Given the description of an element on the screen output the (x, y) to click on. 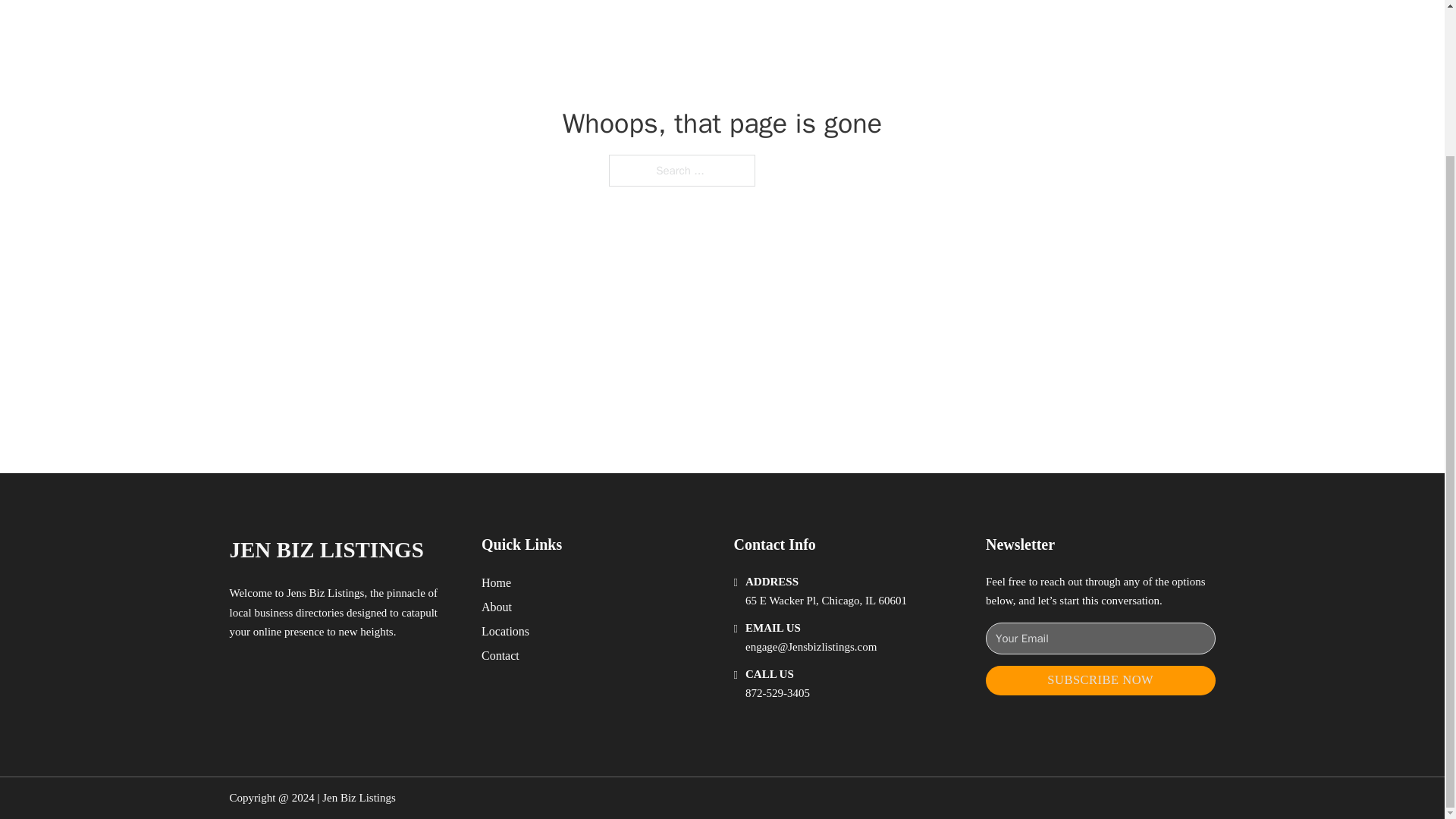
Contact (500, 655)
Home (496, 582)
Locations (505, 630)
872-529-3405 (777, 693)
SUBSCRIBE NOW (1100, 680)
JEN BIZ LISTINGS (325, 549)
About (496, 607)
